Given the description of an element on the screen output the (x, y) to click on. 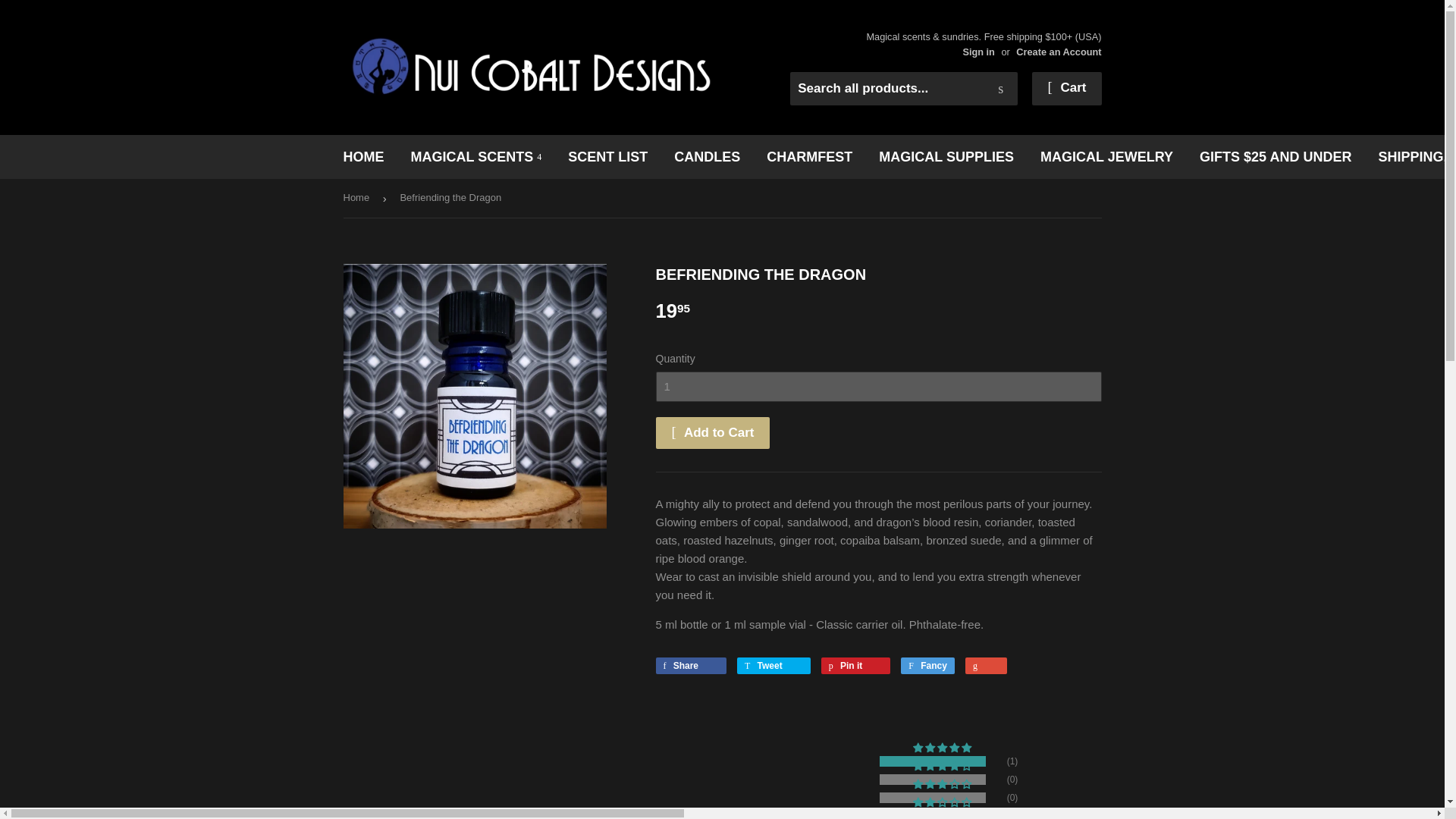
Cart (1066, 88)
SCENT LIST (607, 157)
Sign in (978, 51)
MAGICAL SCENTS (475, 157)
HOME (363, 157)
Create an Account (1058, 51)
CANDLES (706, 157)
Search (1000, 89)
CHARMFEST (809, 157)
MAGICAL SUPPLIES (946, 157)
